Given the description of an element on the screen output the (x, y) to click on. 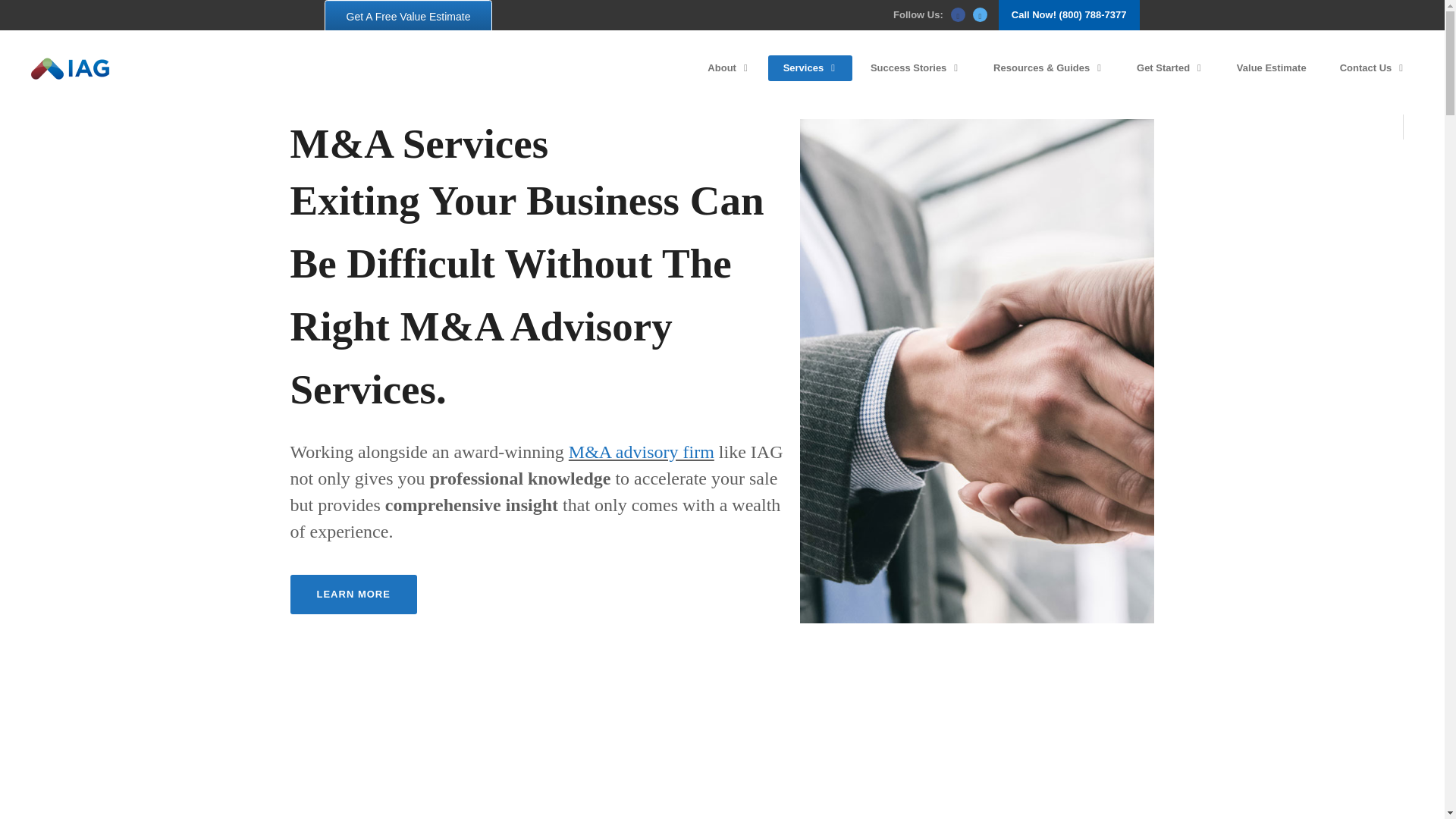
Services (809, 68)
Success Stories (915, 68)
About (728, 68)
Get A Free Value Estimate (408, 16)
